Given the description of an element on the screen output the (x, y) to click on. 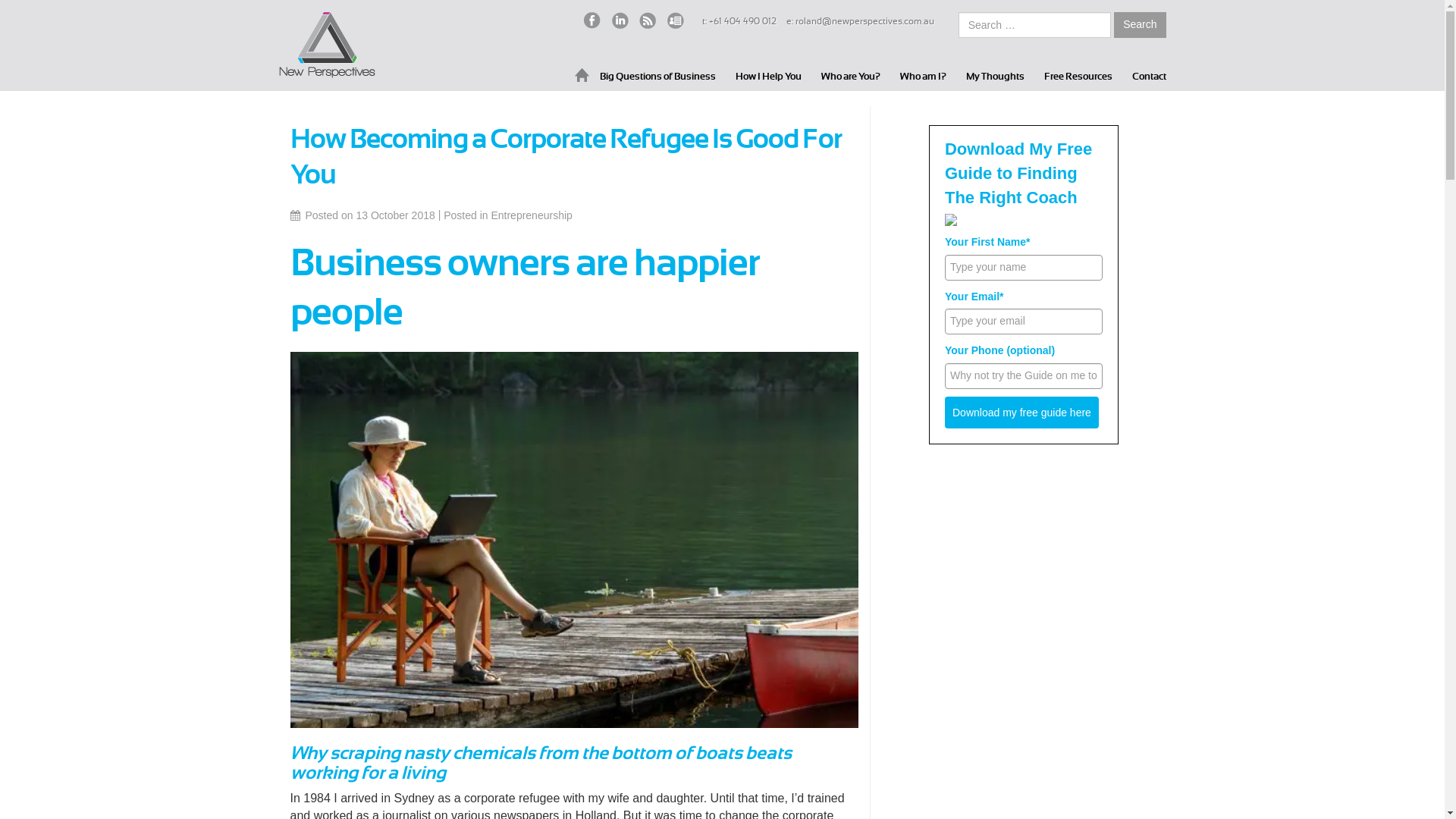
Big Questions of Business Element type: text (657, 75)
13 October 2018 Element type: text (394, 215)
Newsletter Element type: text (675, 20)
roland@newperspectives.com.au Element type: text (864, 20)
How I Help You Element type: text (768, 75)
Download my free guide here Element type: text (1021, 412)
Home Element type: text (581, 74)
Who are You? Element type: text (849, 75)
My Thoughts Element type: text (995, 75)
LinkedIn Element type: text (619, 20)
+61 404 490 012 Element type: text (742, 20)
Facebook Element type: text (591, 20)
Free Resources Element type: text (1077, 75)
Search Element type: text (1139, 24)
Who am I? Element type: text (922, 75)
Entrepreneurship Element type: text (530, 215)
New Perspectives Element type: text (327, 45)
RSS Element type: text (647, 20)
Contact Element type: text (1148, 75)
